Given the description of an element on the screen output the (x, y) to click on. 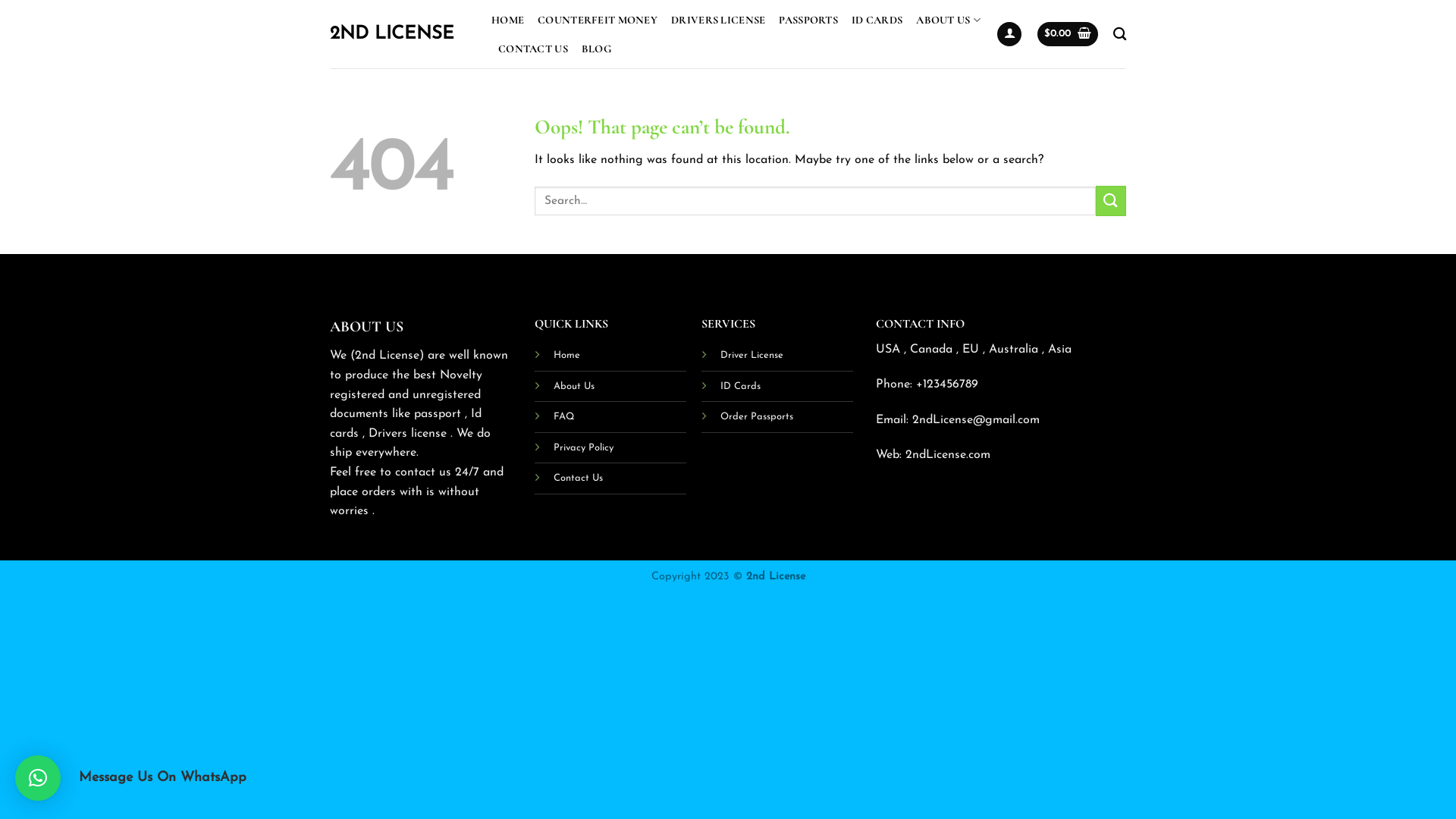
Home Element type: text (566, 354)
About Us Element type: text (573, 385)
ID CARDS Element type: text (876, 20)
@gmail.com Element type: text (1005, 420)
ABOUT US Element type: text (948, 19)
FAQ Element type: text (563, 416)
$0.00 Element type: text (1067, 34)
BLOG Element type: text (596, 48)
HOME Element type: text (507, 20)
PASSPORTS Element type: text (807, 20)
ID Cards Element type: text (740, 385)
CONTACT US Element type: text (532, 48)
Driver License Element type: text (751, 354)
Contact Us Element type: text (577, 477)
2ndLicense.com Element type: text (947, 454)
COUNTERFEIT MONEY Element type: text (597, 20)
Order Passports Element type: text (756, 416)
Message Us On WhatsApp Element type: text (37, 777)
DRIVERS LICENSE Element type: text (718, 20)
Privacy Policy Element type: text (583, 447)
2ND LICENSE Element type: text (398, 34)
